Given the description of an element on the screen output the (x, y) to click on. 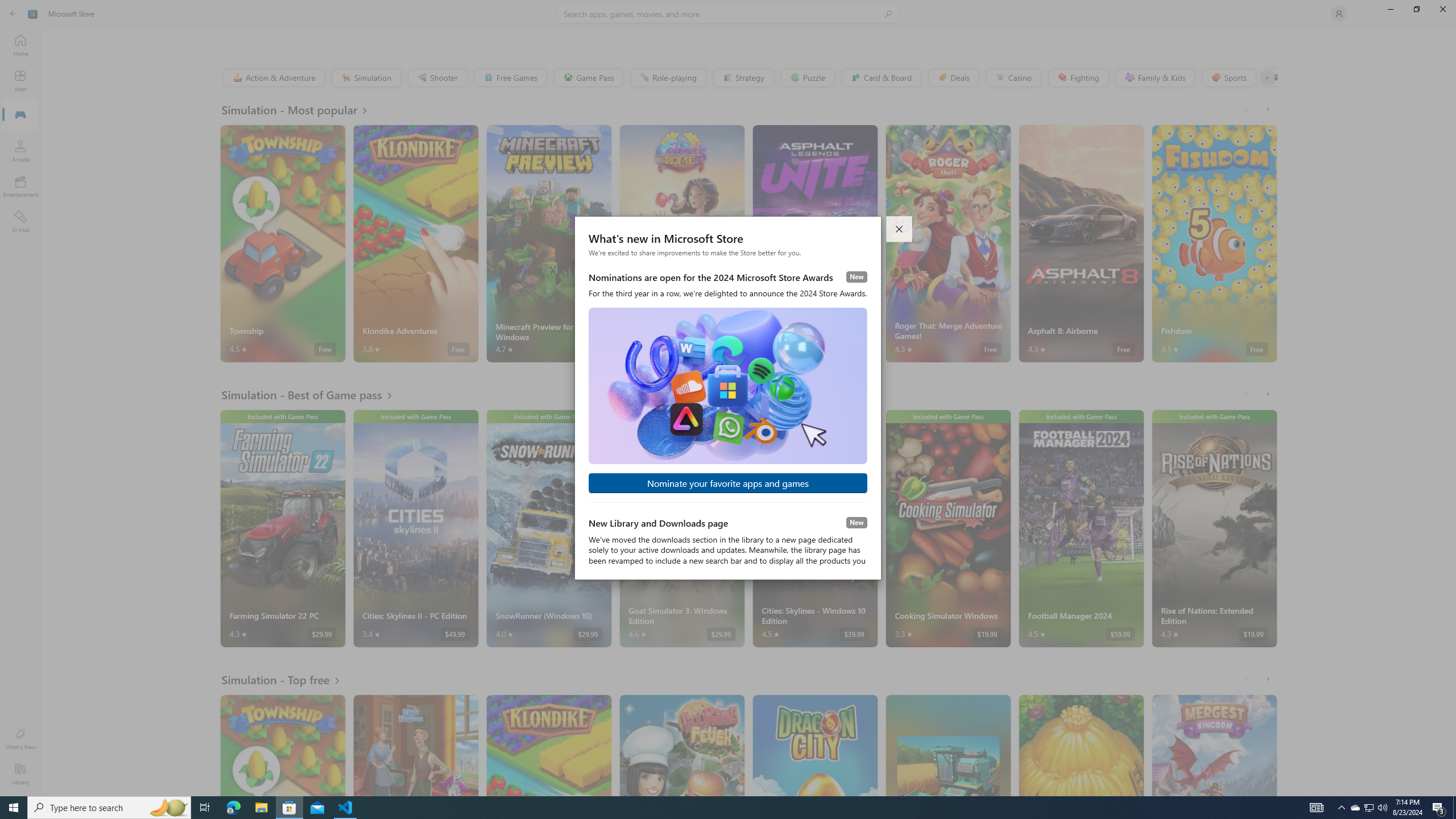
The Tribez. Average rating of 4.6 out of five stars. Free   (1080, 745)
Back (13, 13)
Deals (952, 77)
Game Pass (588, 77)
Close dialog (899, 229)
AutomationID: LeftScrollButton (1246, 678)
Shooter (436, 77)
